Given the description of an element on the screen output the (x, y) to click on. 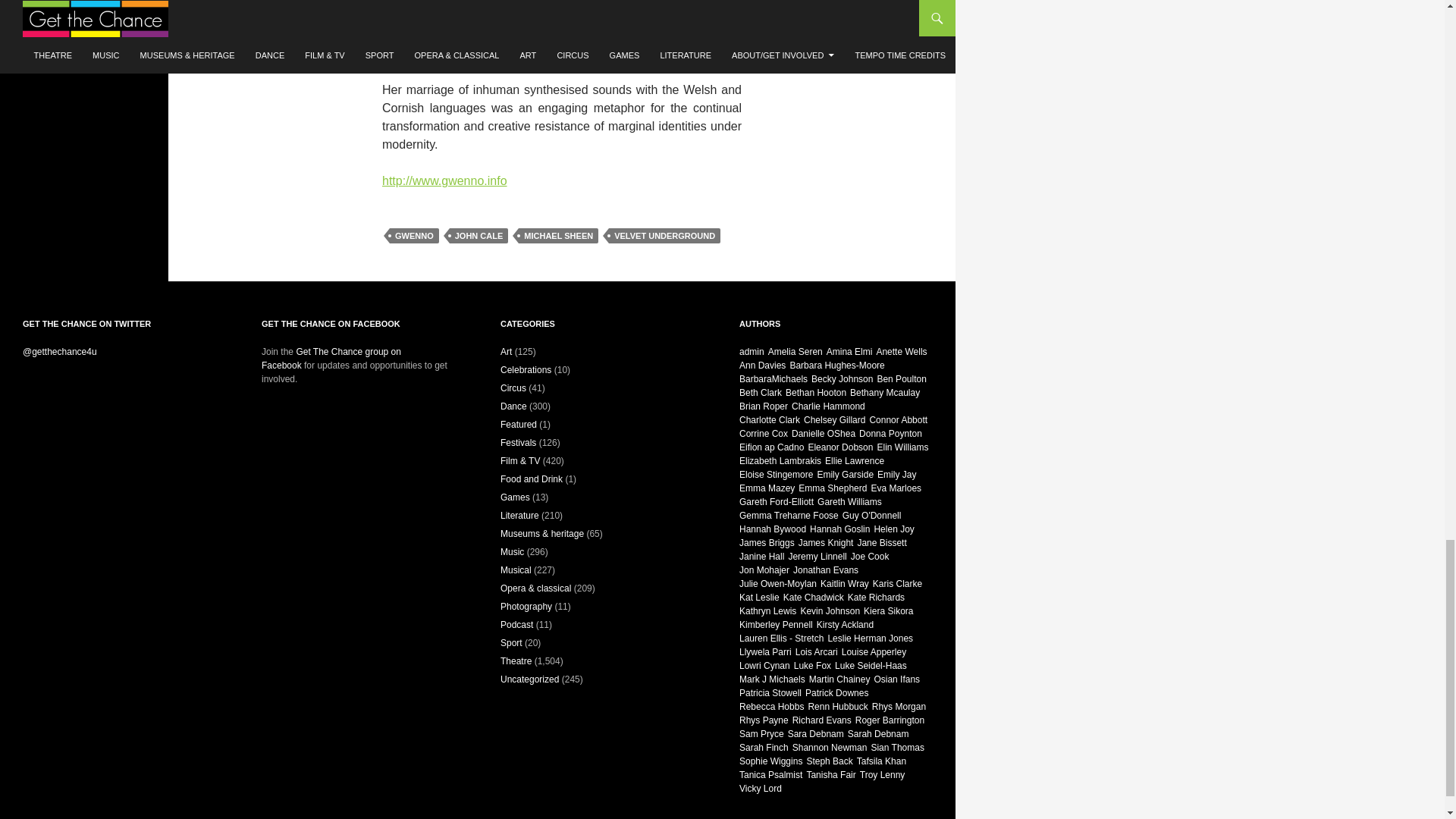
Posts by Amina Elmi (849, 351)
Posts by Ben Poulton (901, 378)
VELVET UNDERGROUND (664, 235)
Posts by Anette Wells (901, 351)
Posts by Bethany Mcaulay (885, 392)
Chwyldro - GWENNO (561, 28)
Posts by Beth Clark (760, 392)
Posts by Barbara Hughes-Moore (836, 365)
GWENNO (414, 235)
Posts by Becky Johnson (841, 378)
Posts by Ann Davies (762, 365)
Posts by Bethan Hooton (815, 392)
Posts by BarbaraMichaels (773, 378)
Posts by Amelia Seren (795, 351)
JOHN CALE (478, 235)
